Given the description of an element on the screen output the (x, y) to click on. 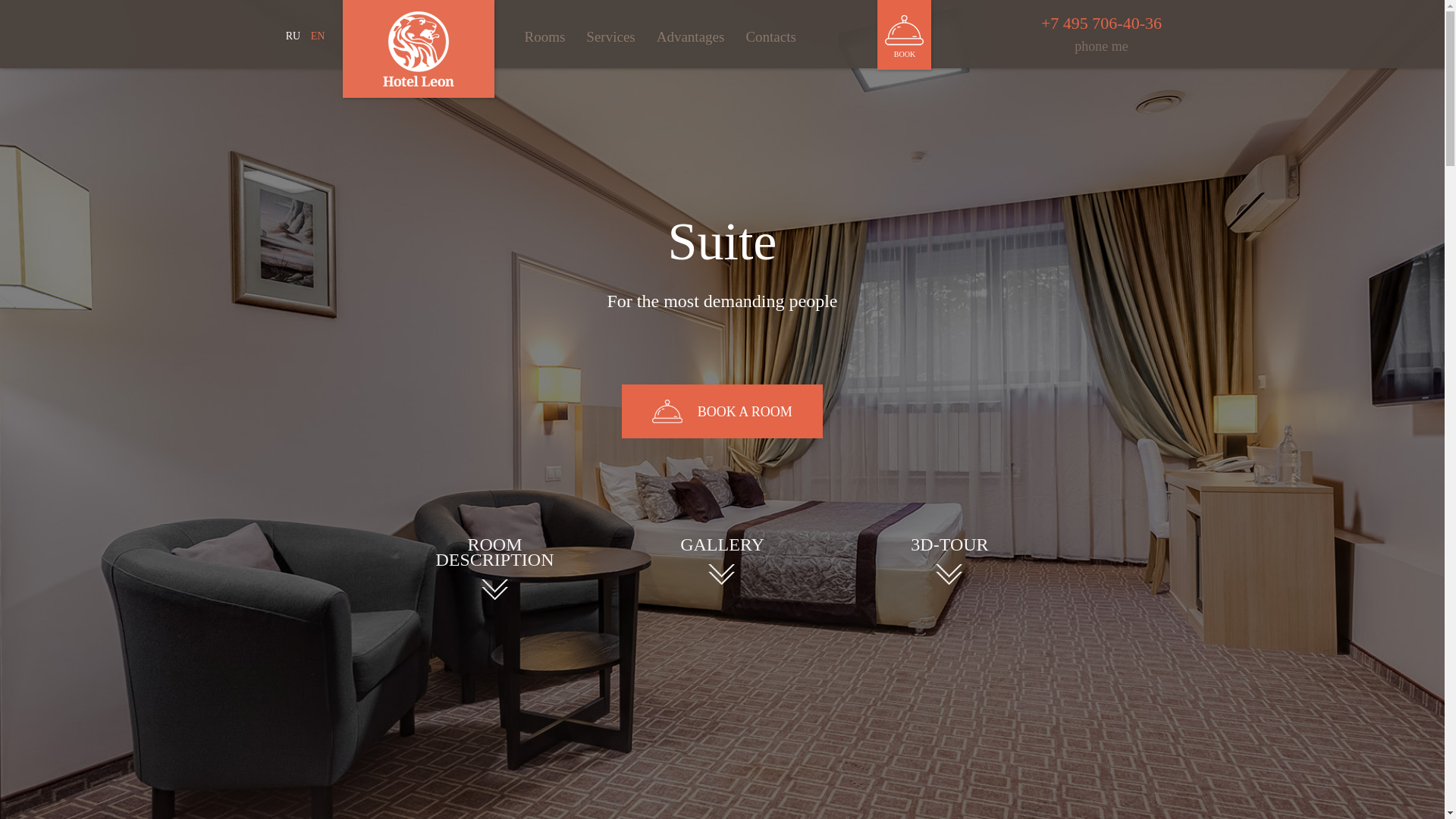
GALLERY (721, 562)
phone me (1100, 46)
3D-TOUR (949, 562)
EN (317, 36)
Contacts (770, 33)
ROOM DESCRIPTION (495, 570)
Services (610, 33)
RU (292, 36)
BOOK A ROOM (721, 411)
BOOK (904, 34)
Advantages (690, 33)
Rooms (544, 33)
